Given the description of an element on the screen output the (x, y) to click on. 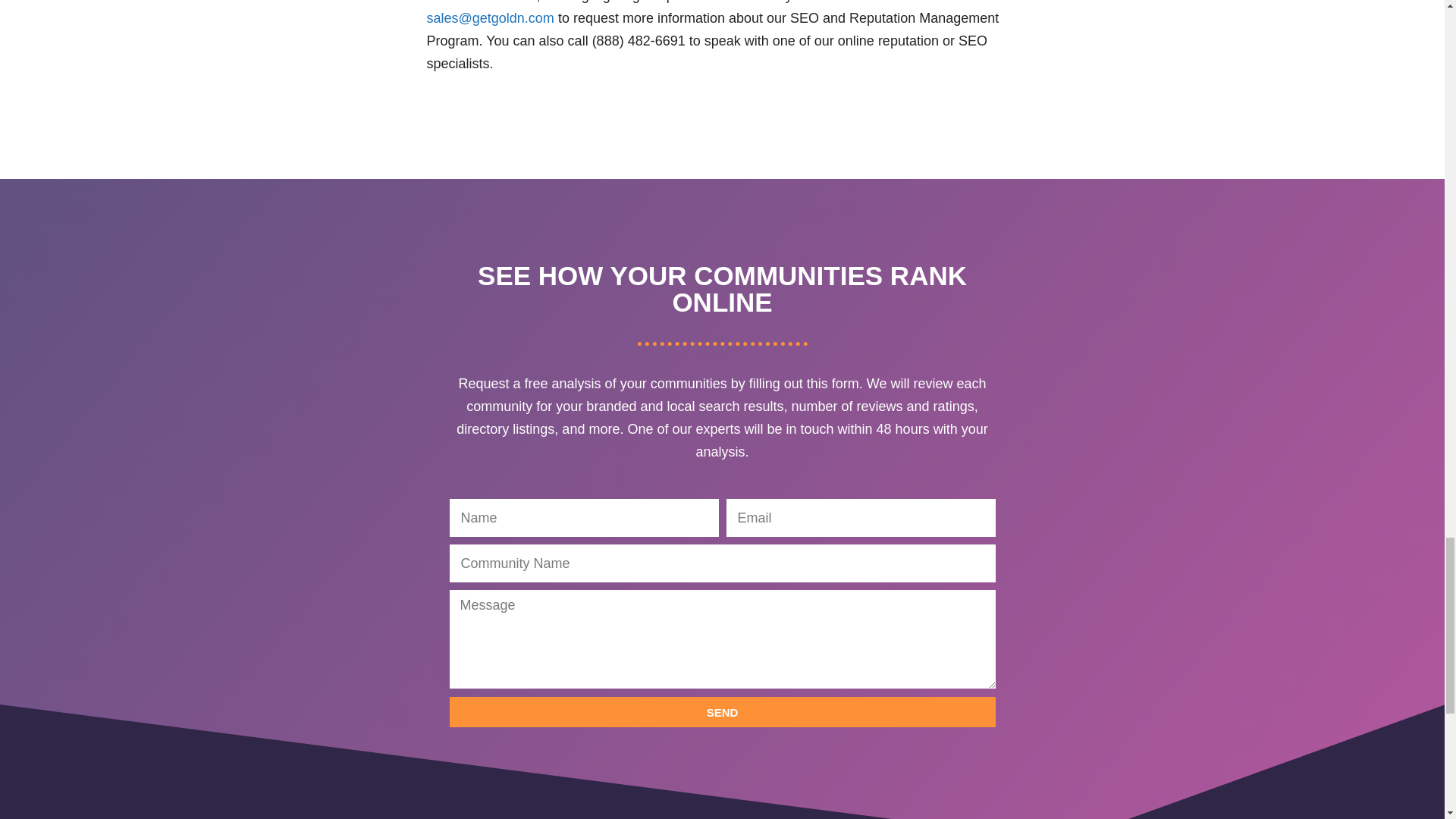
SEND (721, 711)
